Given the description of an element on the screen output the (x, y) to click on. 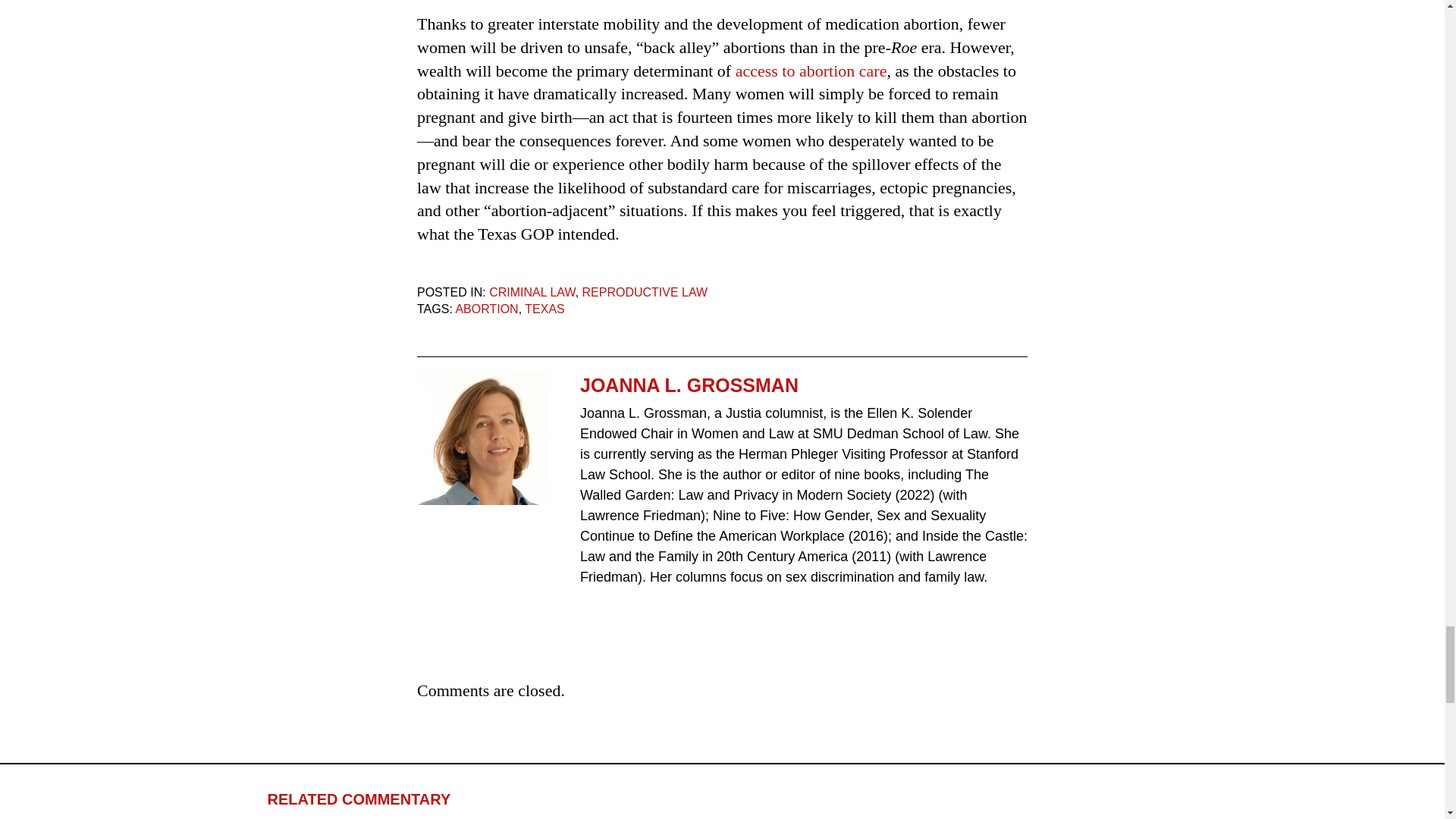
ABORTION (486, 308)
REPRODUCTIVE LAW (644, 291)
View all posts in Reproductive Law (644, 291)
TEXAS (544, 308)
View all posts in Texas (544, 308)
access to abortion care (810, 70)
CRIMINAL LAW (532, 291)
Joanna L. Grossman (483, 438)
View all posts in Abortion (486, 308)
JOANNA L. GROSSMAN (803, 385)
View all posts in Criminal Law (532, 291)
